Given the description of an element on the screen output the (x, y) to click on. 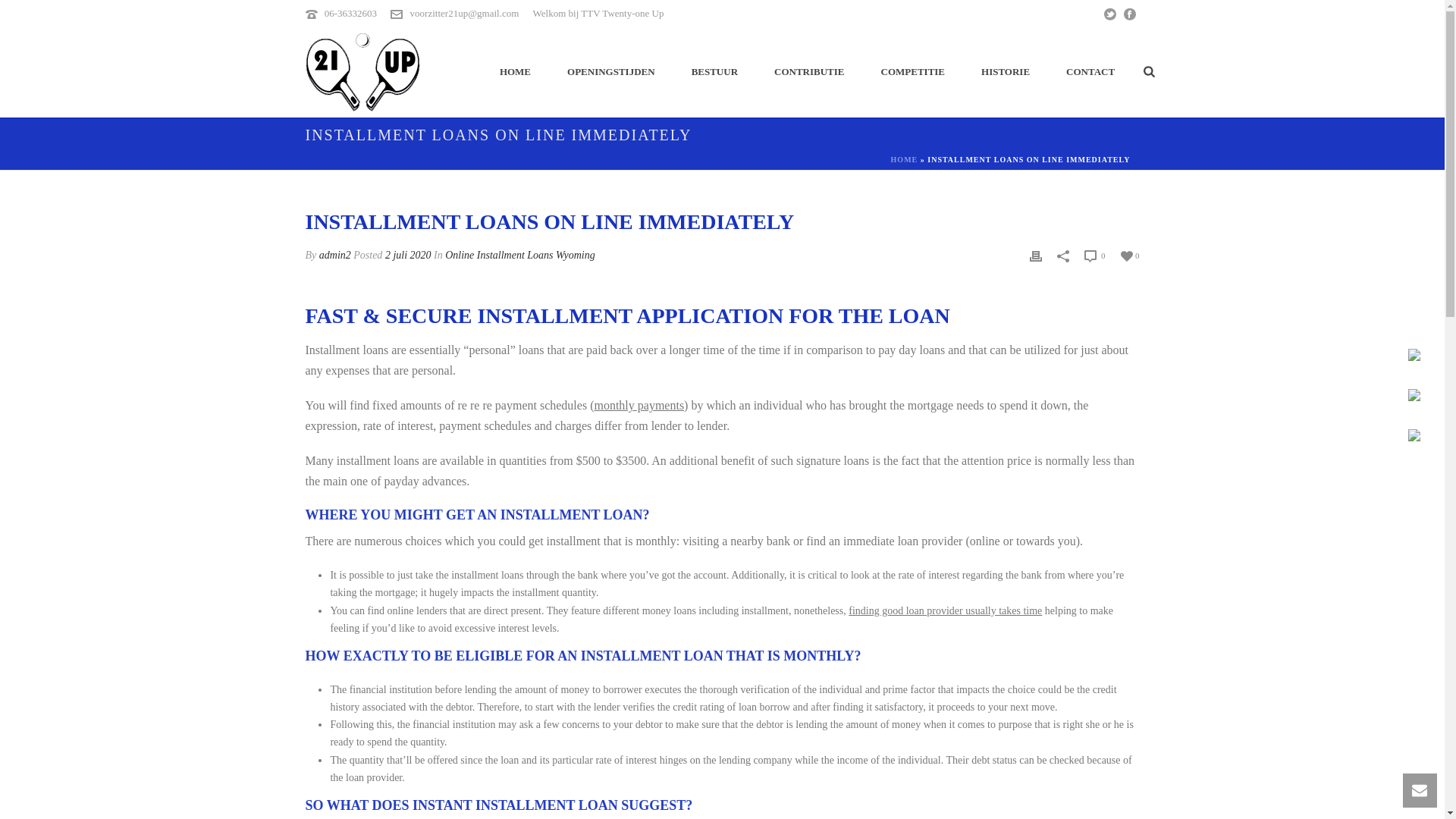
Berichten van admin2 (334, 255)
0 (1130, 255)
CONTRIBUTIE (808, 71)
COMPETITIE (913, 71)
CONTRIBUTIE (808, 71)
CONTACT (1090, 71)
2 juli 2020 (407, 255)
HOME (904, 159)
HOME (515, 71)
admin2 (334, 255)
